Given the description of an element on the screen output the (x, y) to click on. 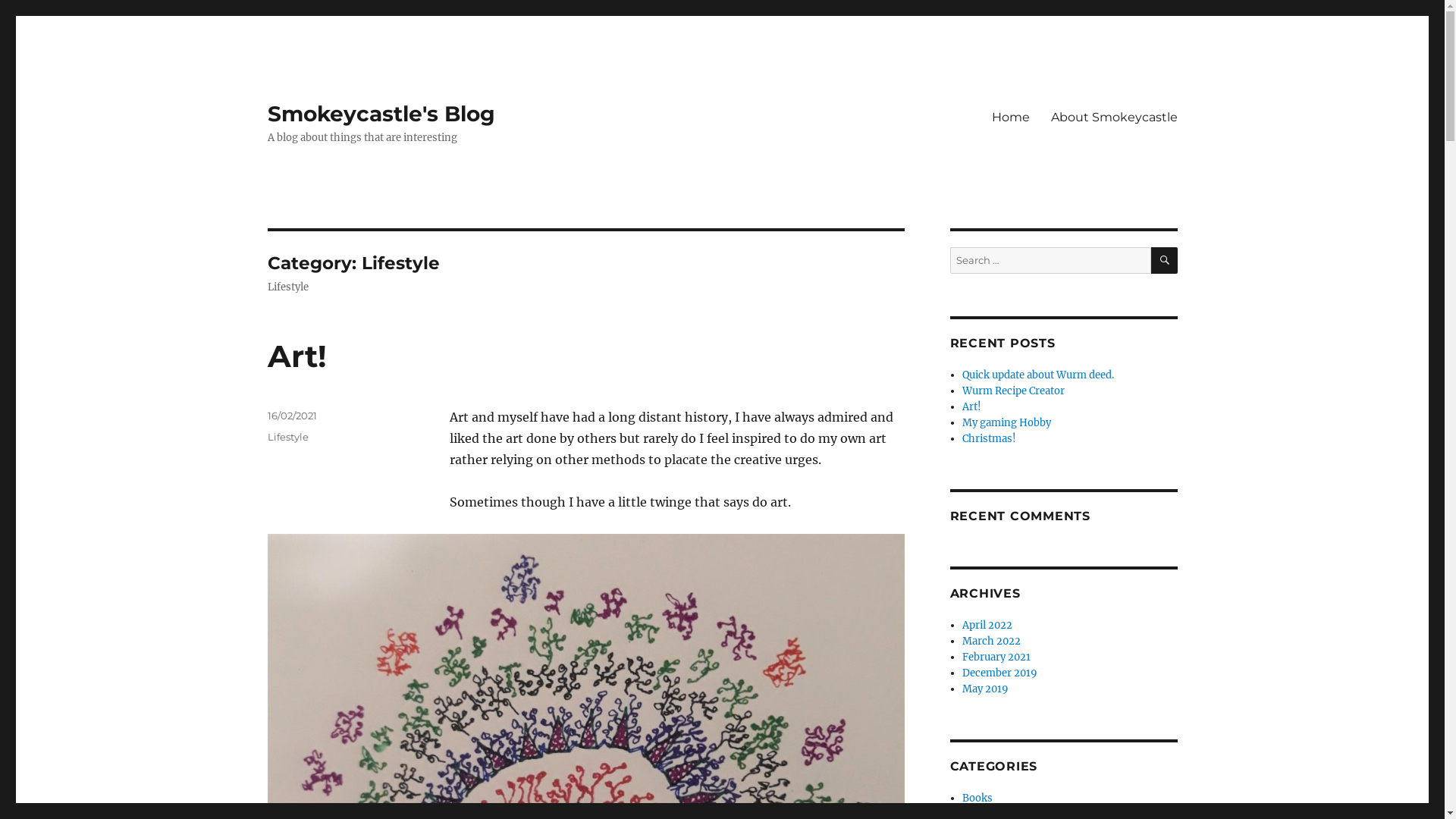
Wurm Recipe Creator Element type: text (1013, 390)
February 2021 Element type: text (996, 656)
Art! Element type: text (971, 406)
About Smokeycastle Element type: text (1114, 116)
Quick update about Wurm deed. Element type: text (1037, 374)
Christmas! Element type: text (989, 438)
Lifestyle Element type: text (286, 436)
Art! Element type: text (296, 355)
My gaming Hobby Element type: text (1006, 422)
April 2022 Element type: text (987, 624)
Home Element type: text (1010, 116)
December 2019 Element type: text (999, 672)
SEARCH Element type: text (1164, 260)
Smokeycastle's Blog Element type: text (380, 113)
16/02/2021 Element type: text (291, 415)
March 2022 Element type: text (991, 640)
Books Element type: text (977, 797)
May 2019 Element type: text (985, 688)
